Given the description of an element on the screen output the (x, y) to click on. 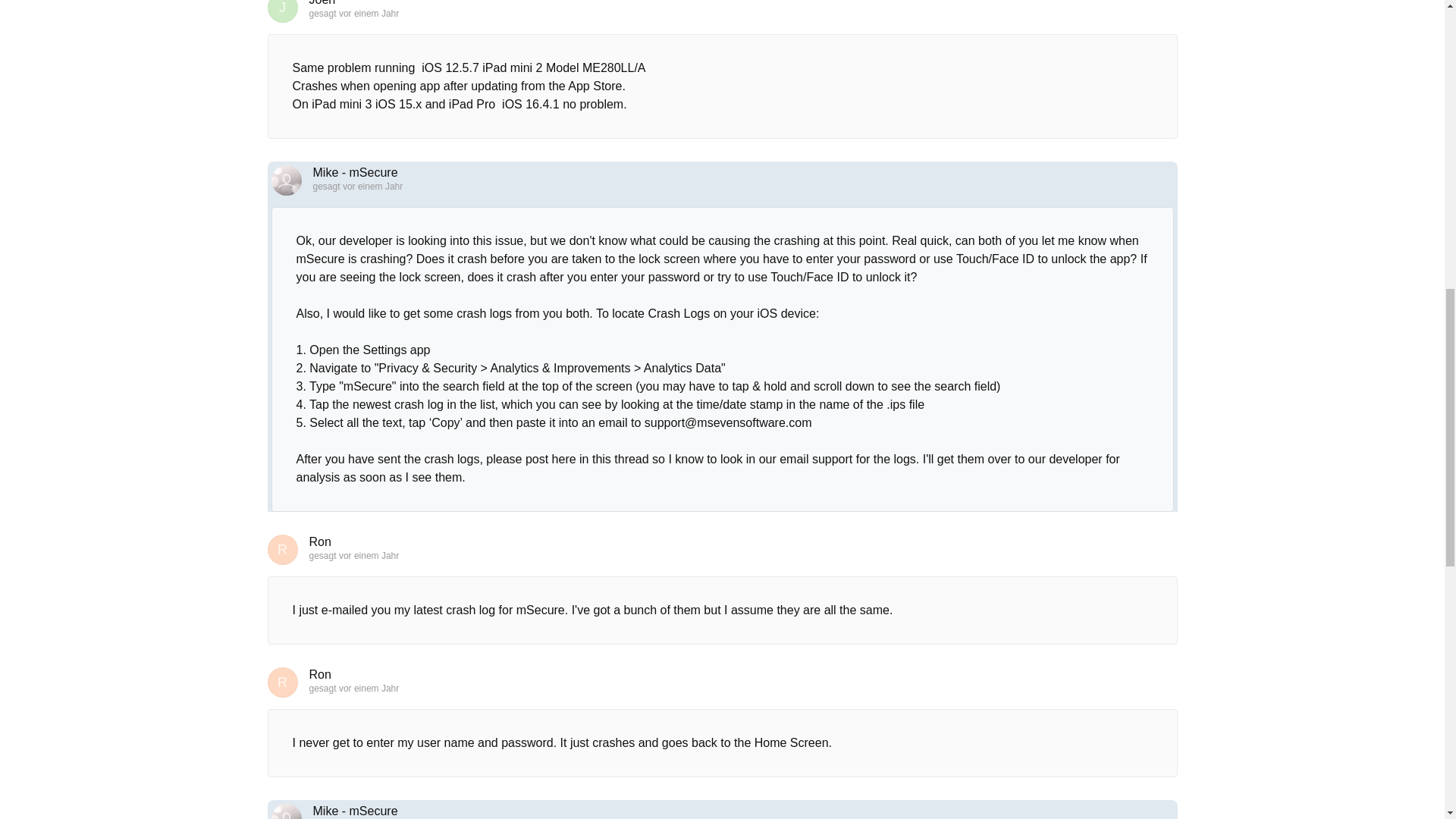
Mo, Apr 10, 2023 um 12:12 NACHMITTAGS (368, 555)
So, Apr 9, 2023 um  9:32 VORMITTAGS (368, 13)
Mo, Apr 10, 2023 um  8:23 VORMITTAGS (372, 185)
Mo, Apr 10, 2023 um 12:13 NACHMITTAGS (368, 688)
